Given the description of an element on the screen output the (x, y) to click on. 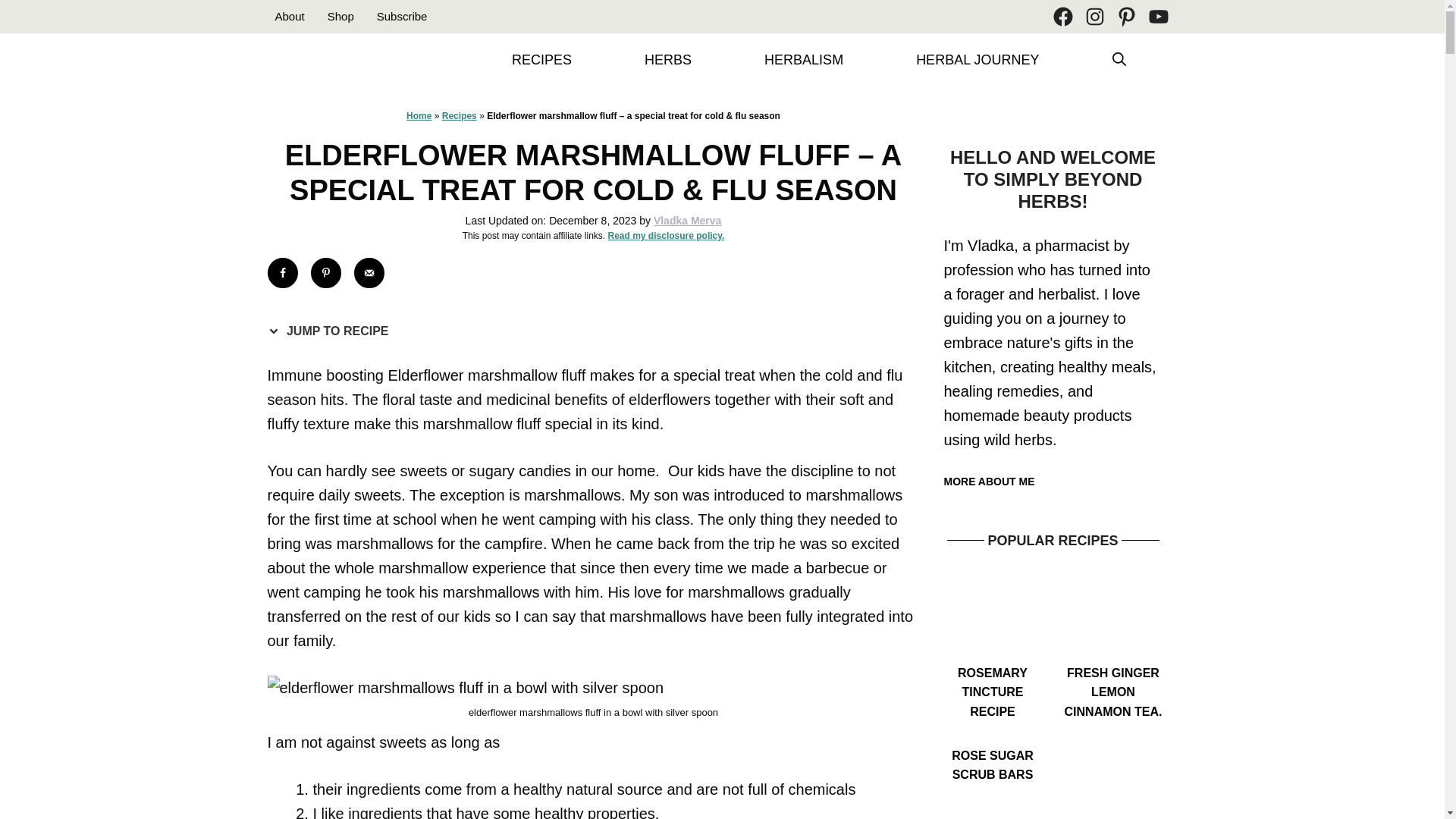
Instagram (1094, 15)
Subscribe (402, 15)
Rosemary tincture4 (992, 614)
Recipes (459, 115)
JUMP TO RECIPE (331, 330)
HERBALISM (803, 59)
ginger cinnamon lemon tea (1112, 614)
Send over email (368, 272)
Share on Facebook (281, 272)
Facebook (1062, 15)
HERBAL JOURNEY (977, 59)
Save to Pinterest (325, 272)
About (289, 15)
RECIPES (542, 59)
YouTube (1158, 15)
